Given the description of an element on the screen output the (x, y) to click on. 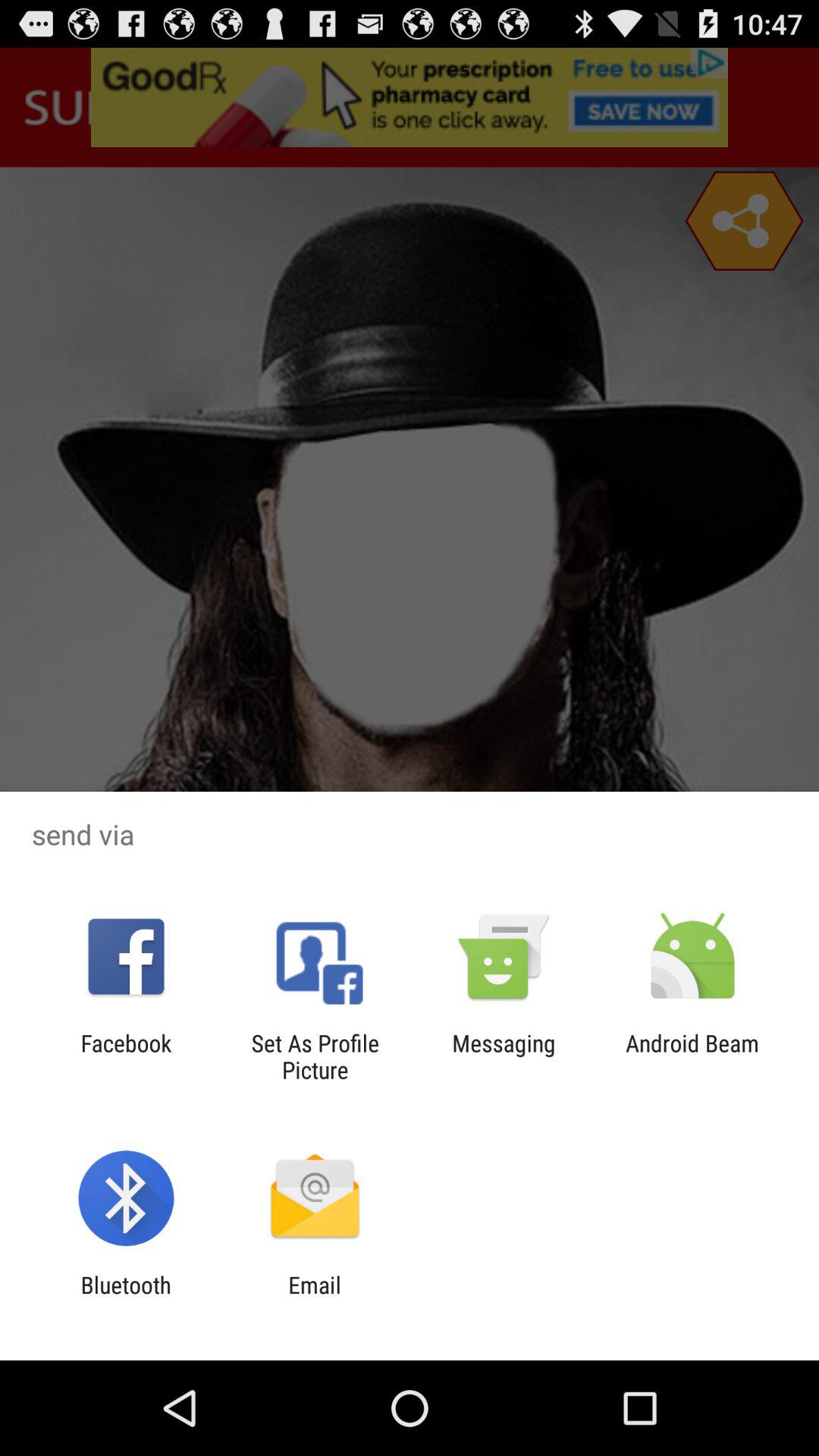
click app next to email icon (125, 1298)
